Given the description of an element on the screen output the (x, y) to click on. 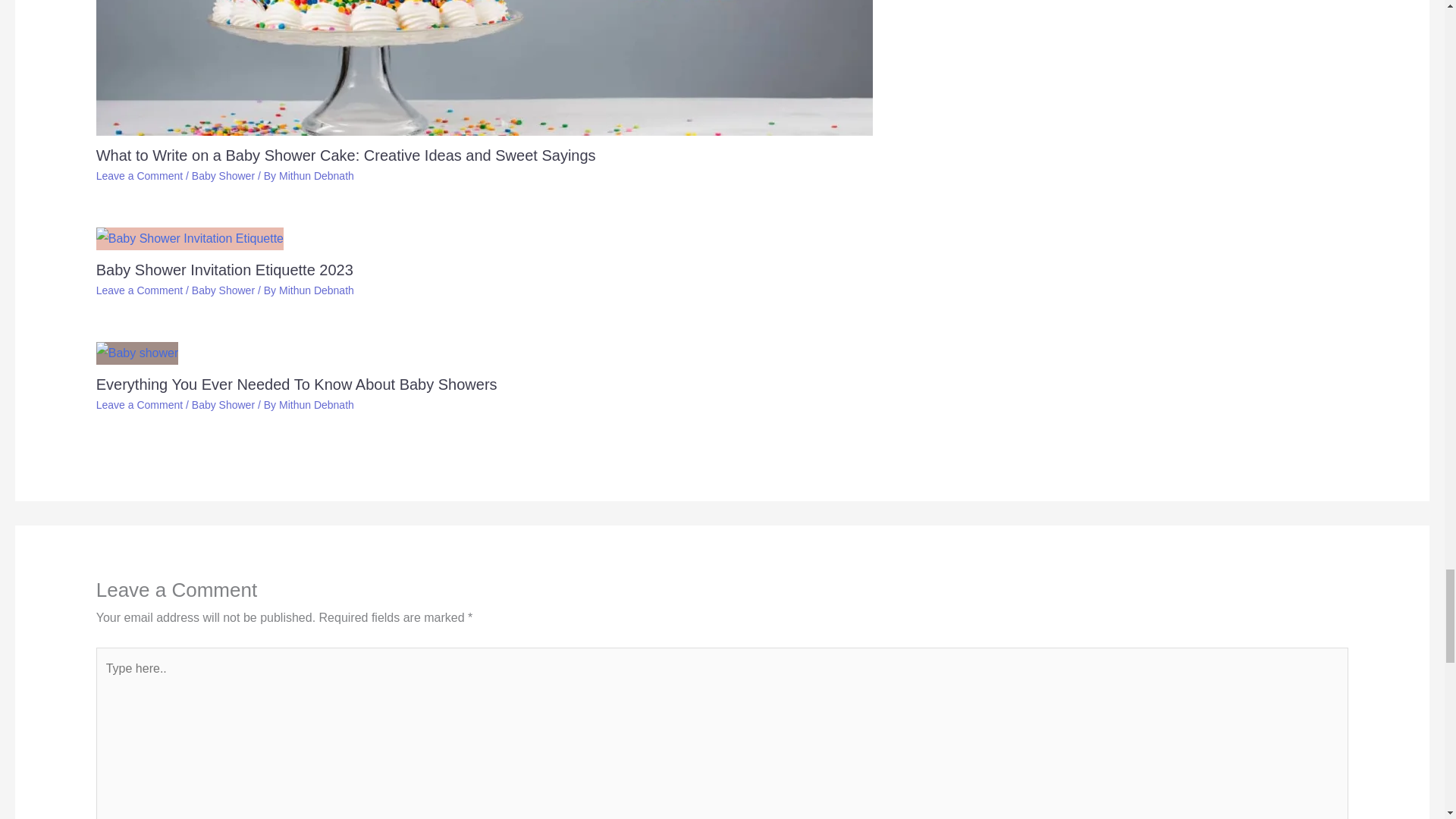
Baby Shower (223, 175)
View all posts by Mithun Debnath (316, 290)
View all posts by Mithun Debnath (316, 404)
Leave a Comment (139, 175)
View all posts by Mithun Debnath (316, 175)
